Given the description of an element on the screen output the (x, y) to click on. 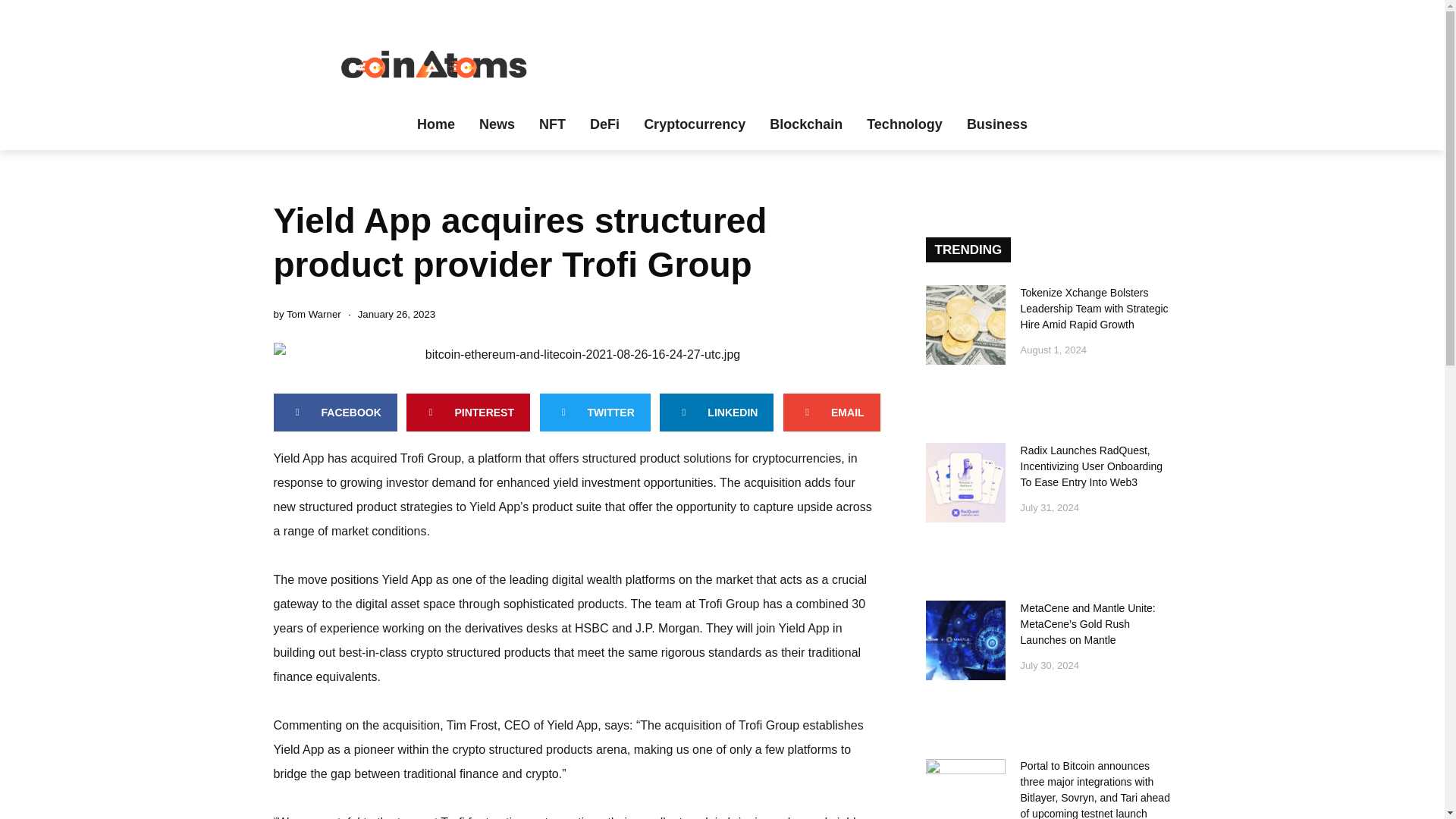
Business (997, 123)
NFT (552, 123)
Blockchain (805, 123)
bitcoin-ethereum-and-litecoin-2021-08-26-16-24-27-utc.jpg (576, 354)
Home (435, 123)
DeFi (604, 123)
Cryptocurrency (694, 123)
News (497, 123)
Technology (904, 123)
